Given the description of an element on the screen output the (x, y) to click on. 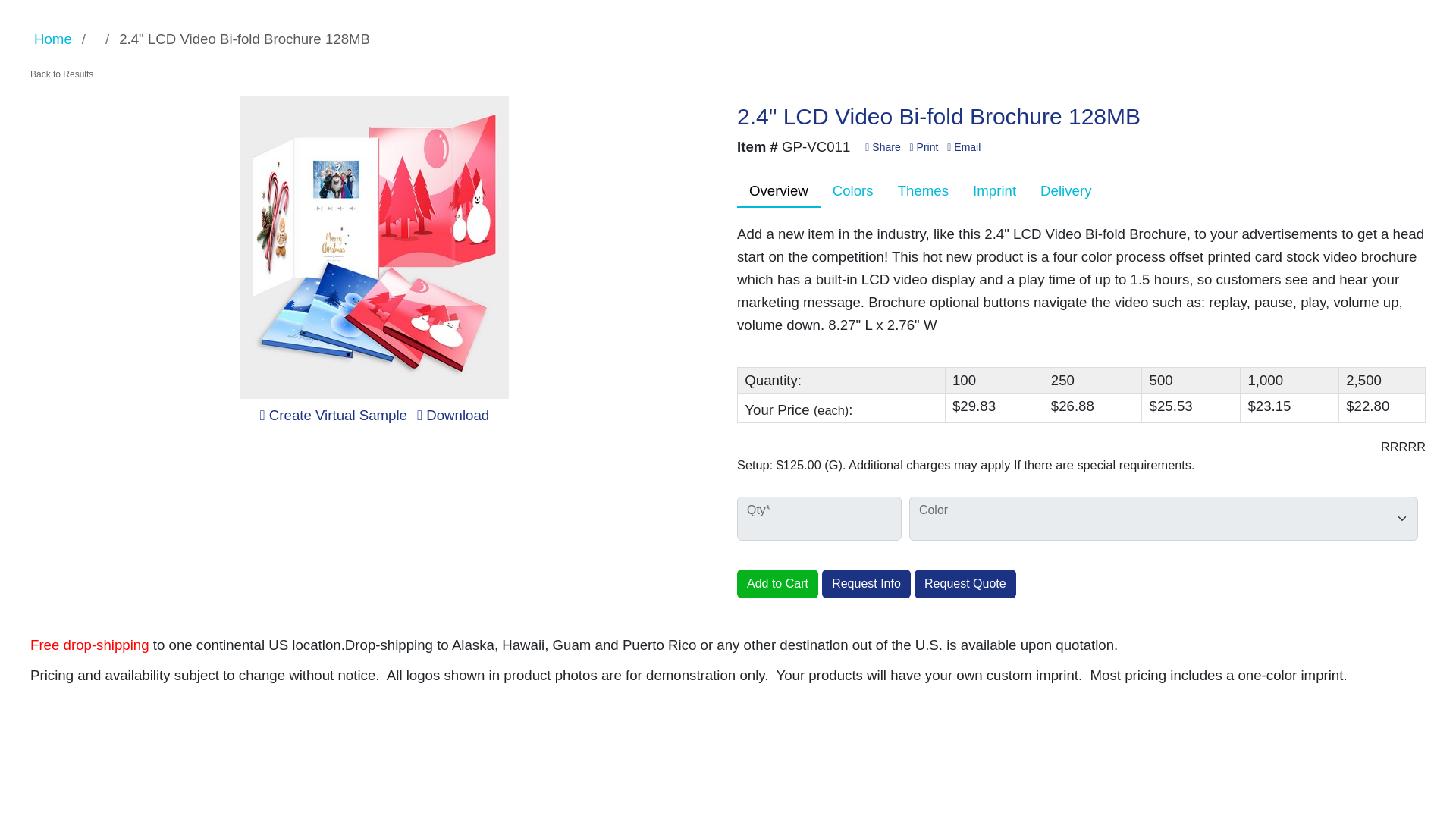
Create a virtual sample with your own logo (333, 415)
Home (52, 38)
Delivery (1065, 191)
Download (452, 415)
Back to Results (61, 73)
Share (881, 146)
Request Info (866, 583)
Print (924, 146)
Create Virtual Sample (333, 415)
